Given the description of an element on the screen output the (x, y) to click on. 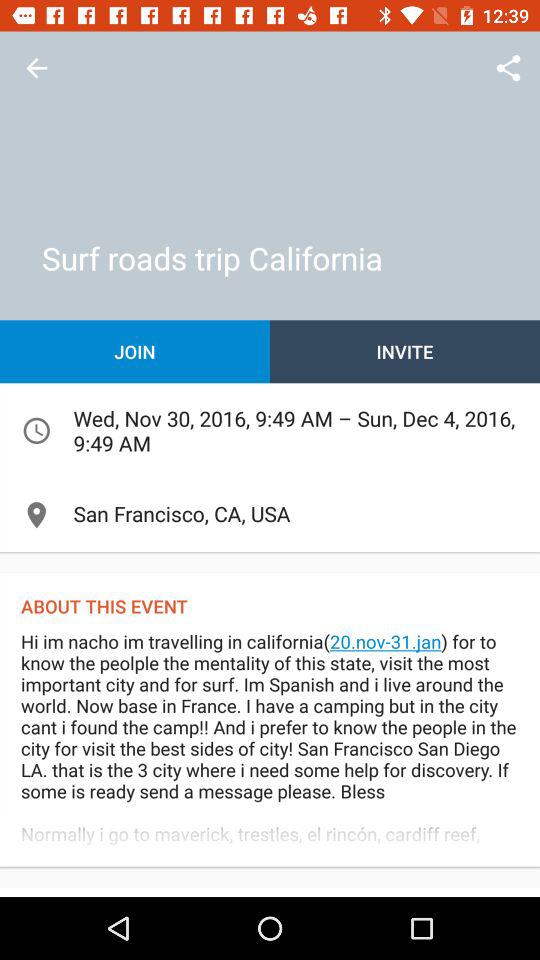
click item above the invite item (508, 67)
